Given the description of an element on the screen output the (x, y) to click on. 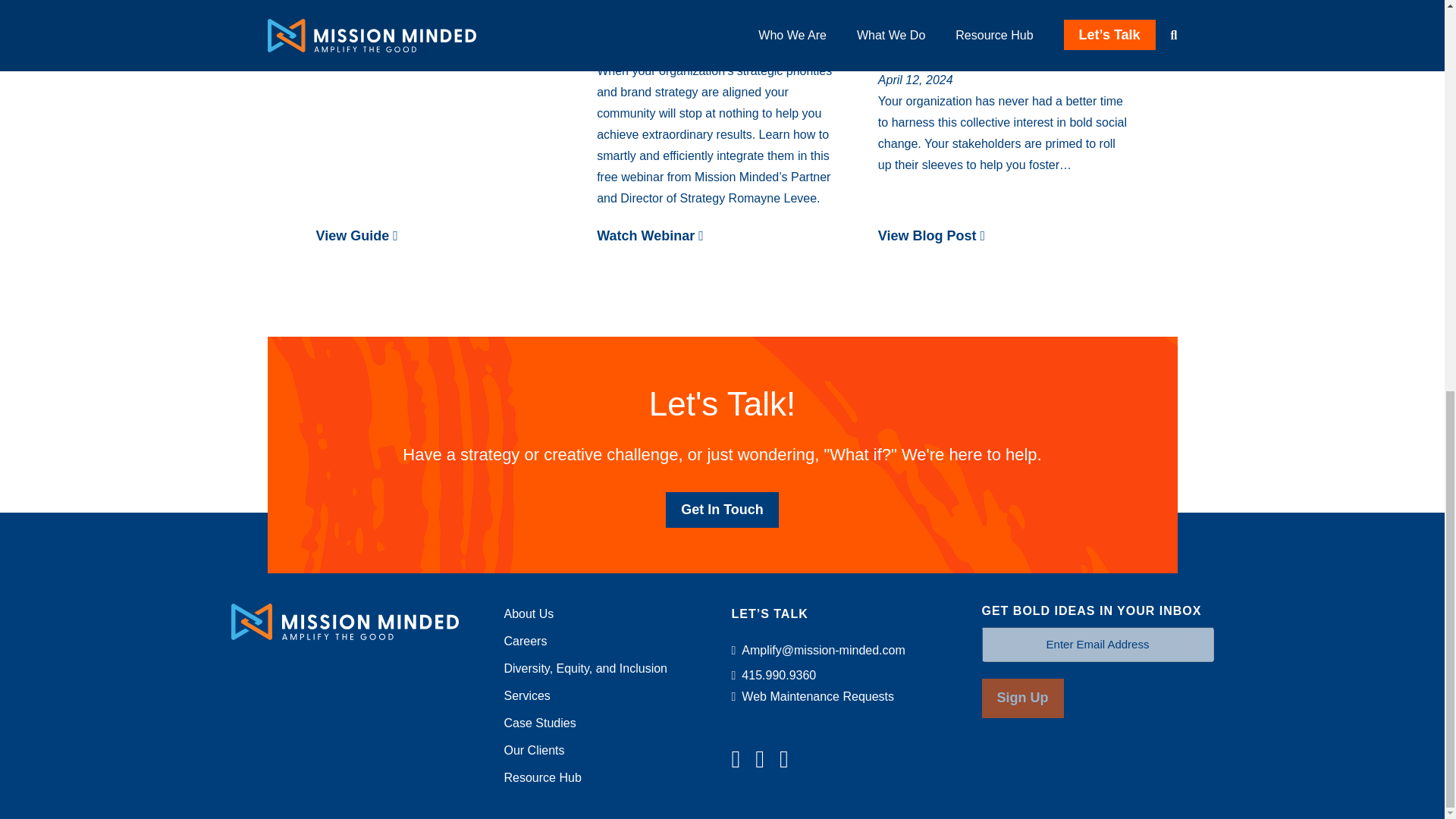
View Guide (440, 236)
About Us (528, 613)
Get In Touch (721, 509)
Sign Up (1021, 698)
Diversity, Equity, and Inclusion (584, 667)
Watch Webinar (721, 236)
Careers (525, 640)
Services (526, 695)
